Given the description of an element on the screen output the (x, y) to click on. 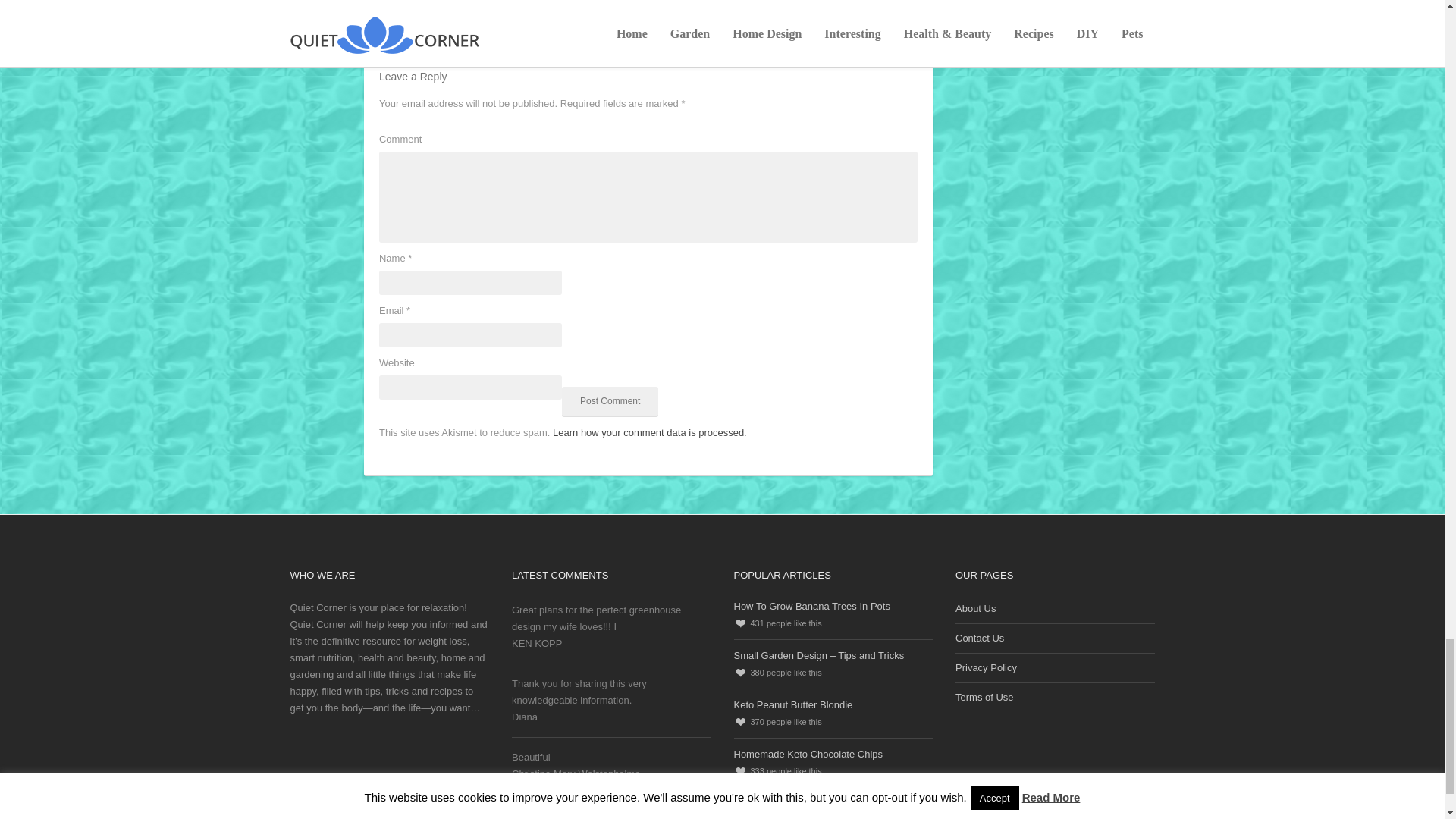
Post Comment (610, 401)
